Given the description of an element on the screen output the (x, y) to click on. 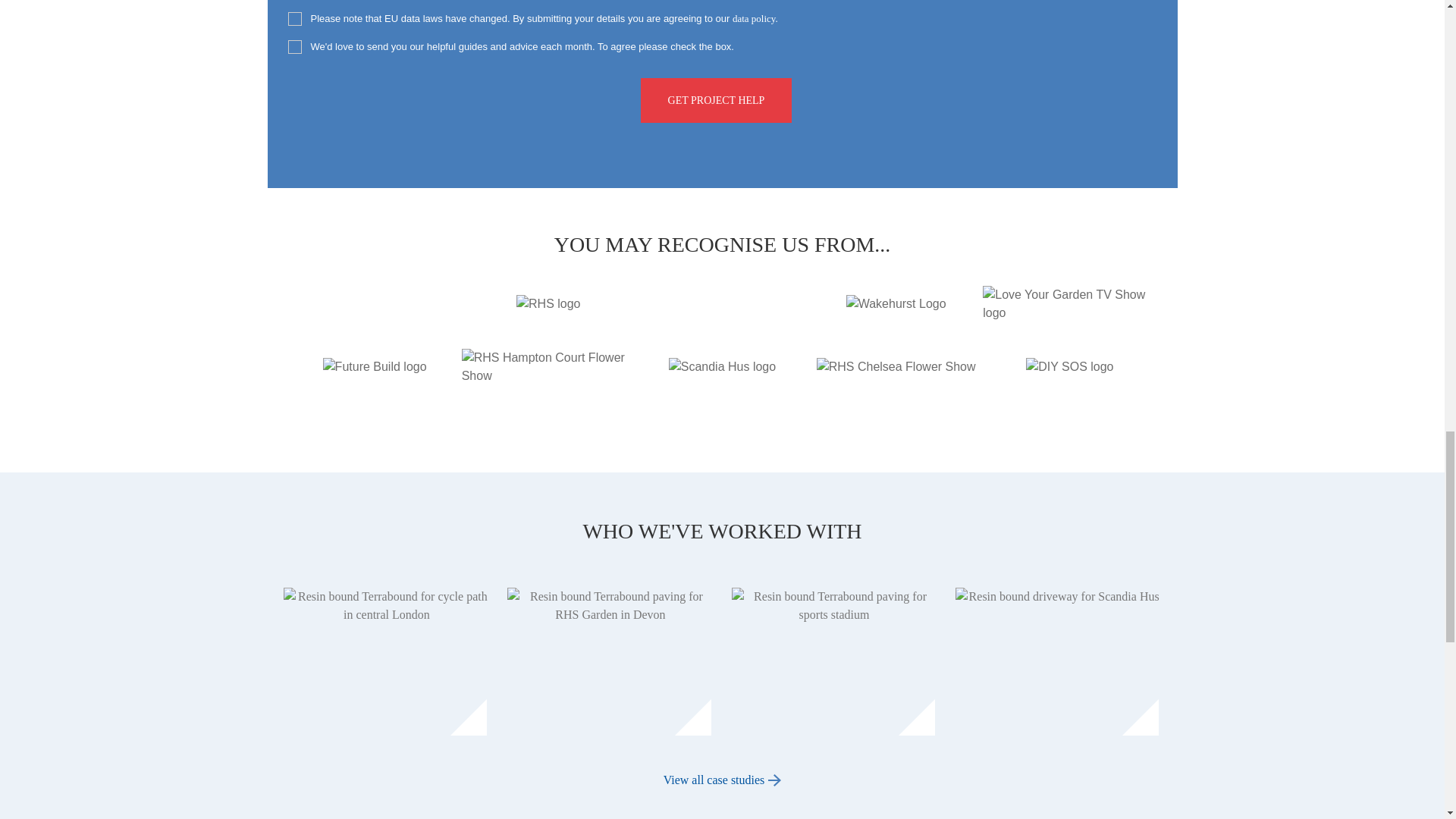
GET PROJECT HELP (716, 99)
Cool Garden RHS Rosemoor (609, 663)
Scandia Hus Driveway (1057, 663)
Constitution Hill Cycle Path (386, 663)
Liverpool Football Stadium (833, 663)
